Given the description of an element on the screen output the (x, y) to click on. 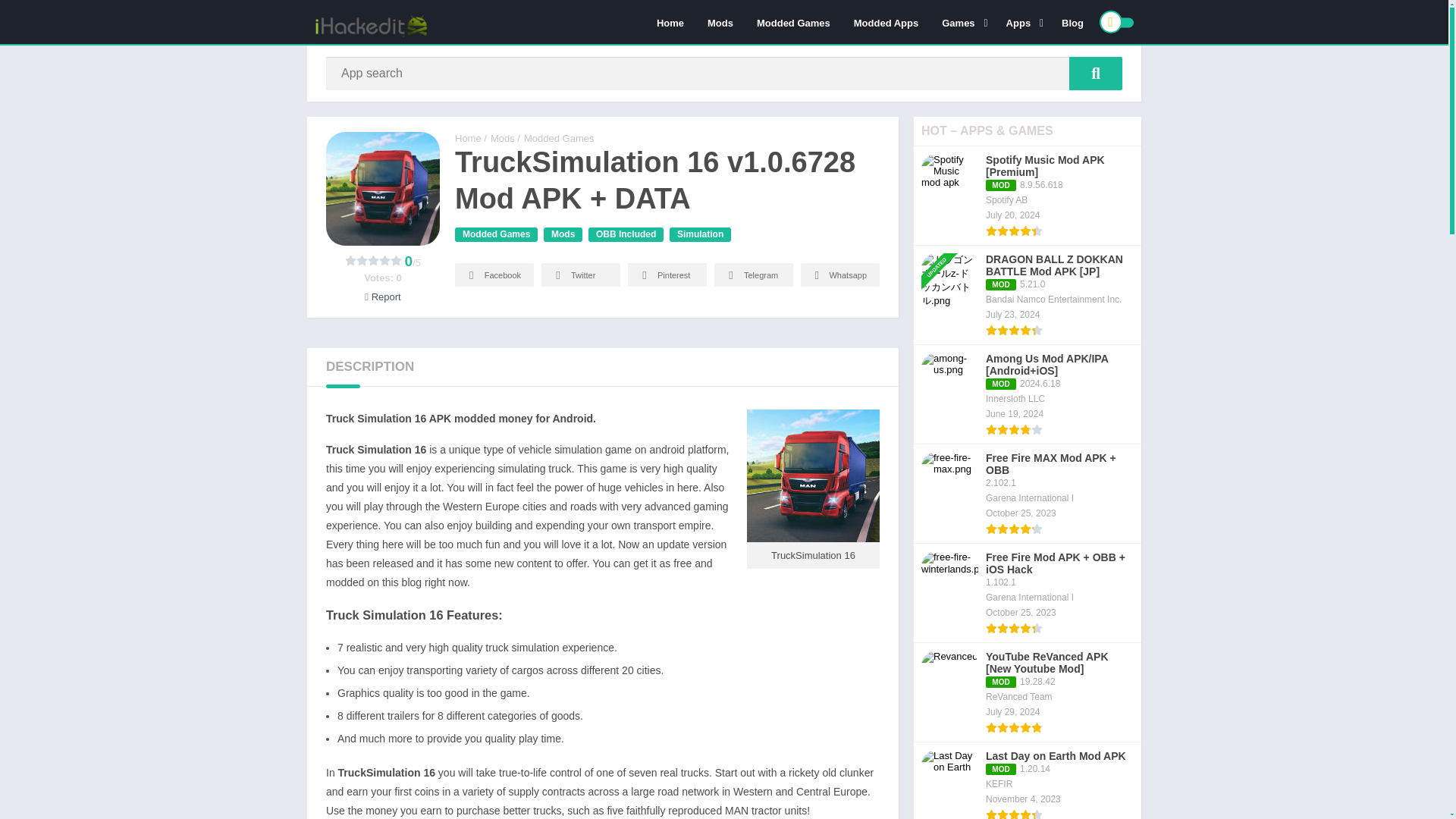
Modded Apps (886, 22)
Updated (941, 247)
Apps (1021, 22)
Home (670, 22)
Games (961, 22)
Mods (719, 22)
Modded Games (793, 22)
iHackedit (467, 138)
App search (1095, 73)
